Given the description of an element on the screen output the (x, y) to click on. 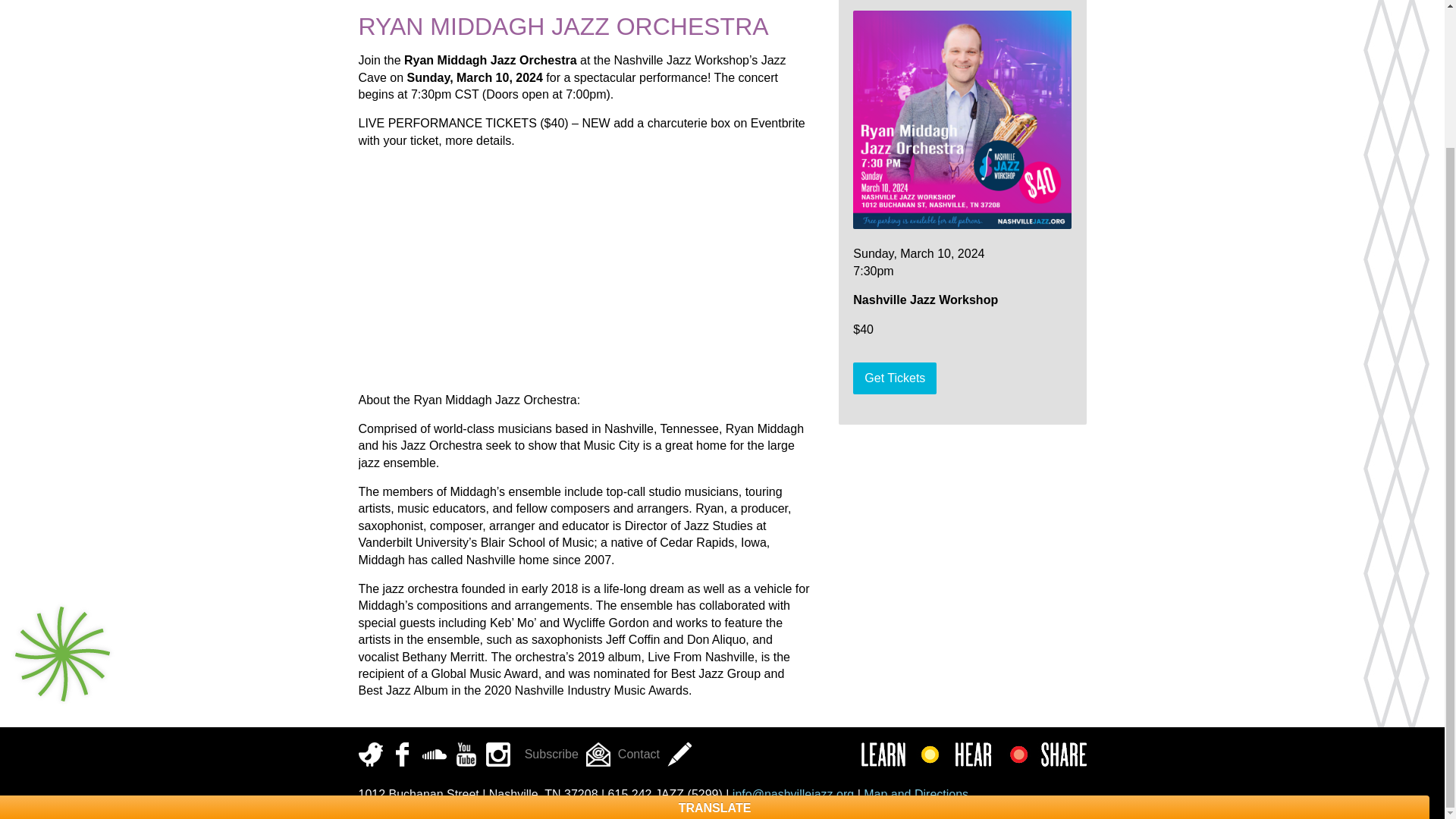
Youtube (464, 754)
Nashville Jazz Workshop (396, 3)
Soundcloud (433, 754)
Instagram (496, 754)
Facebook (401, 754)
Twitter (369, 754)
